Given the description of an element on the screen output the (x, y) to click on. 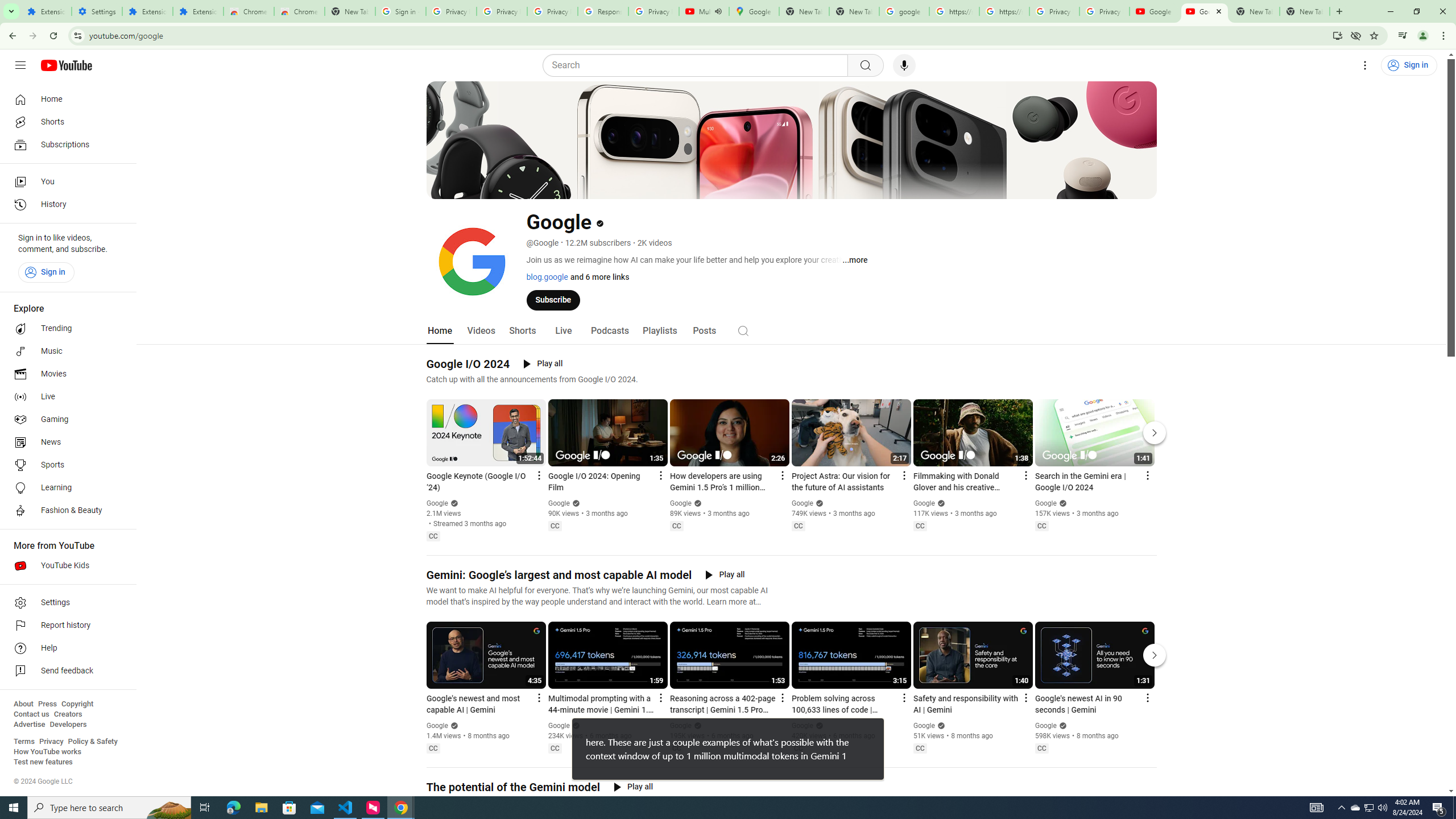
Videos (481, 330)
Policy & Safety (91, 741)
Chrome Web Store (248, 11)
Press (46, 703)
Home (64, 99)
New Tab (1304, 11)
Shorts (64, 121)
Shorts (521, 330)
Settings (1365, 65)
Learning (64, 487)
